Given the description of an element on the screen output the (x, y) to click on. 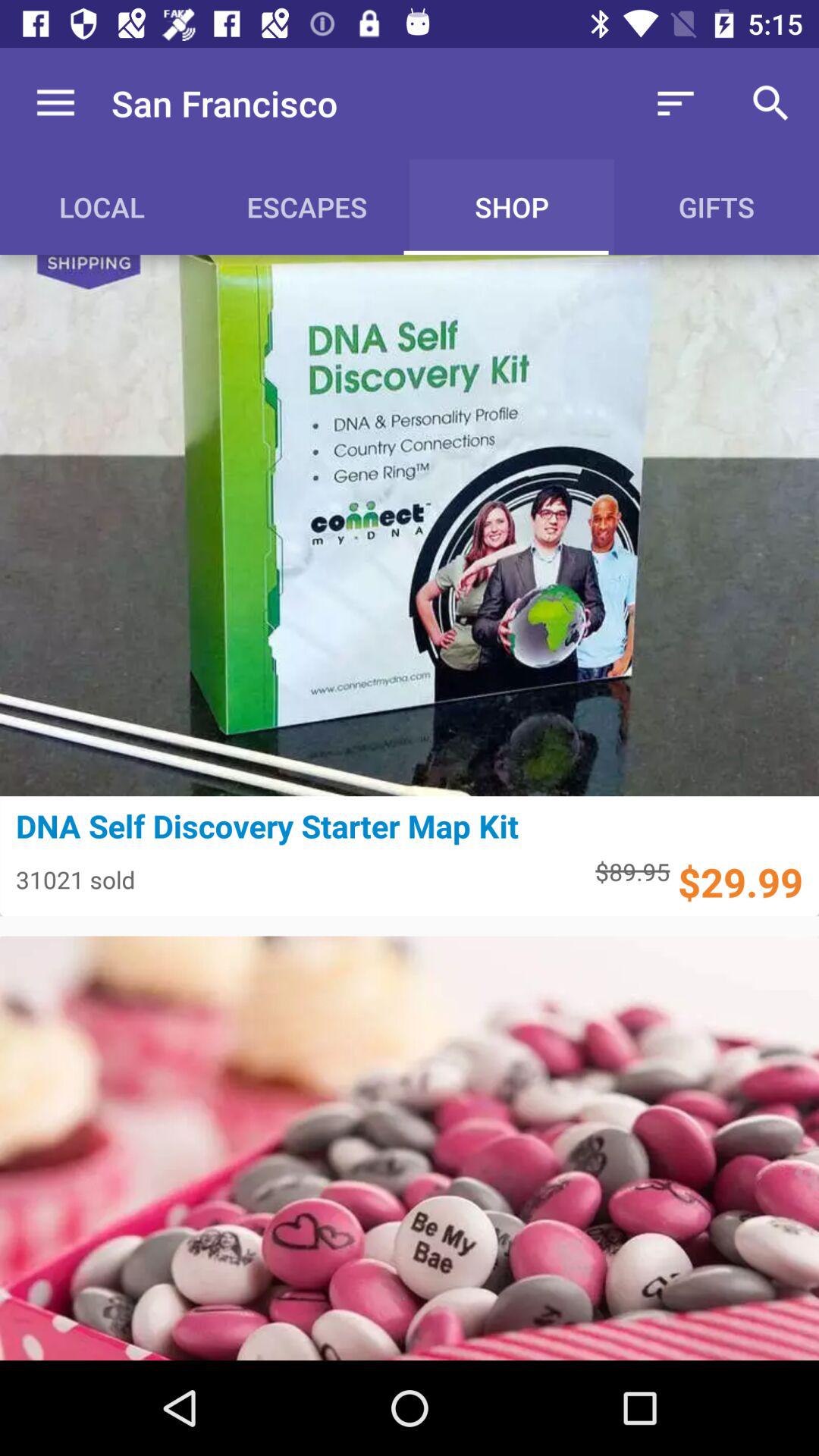
tap the item next to the san francisco icon (55, 103)
